Given the description of an element on the screen output the (x, y) to click on. 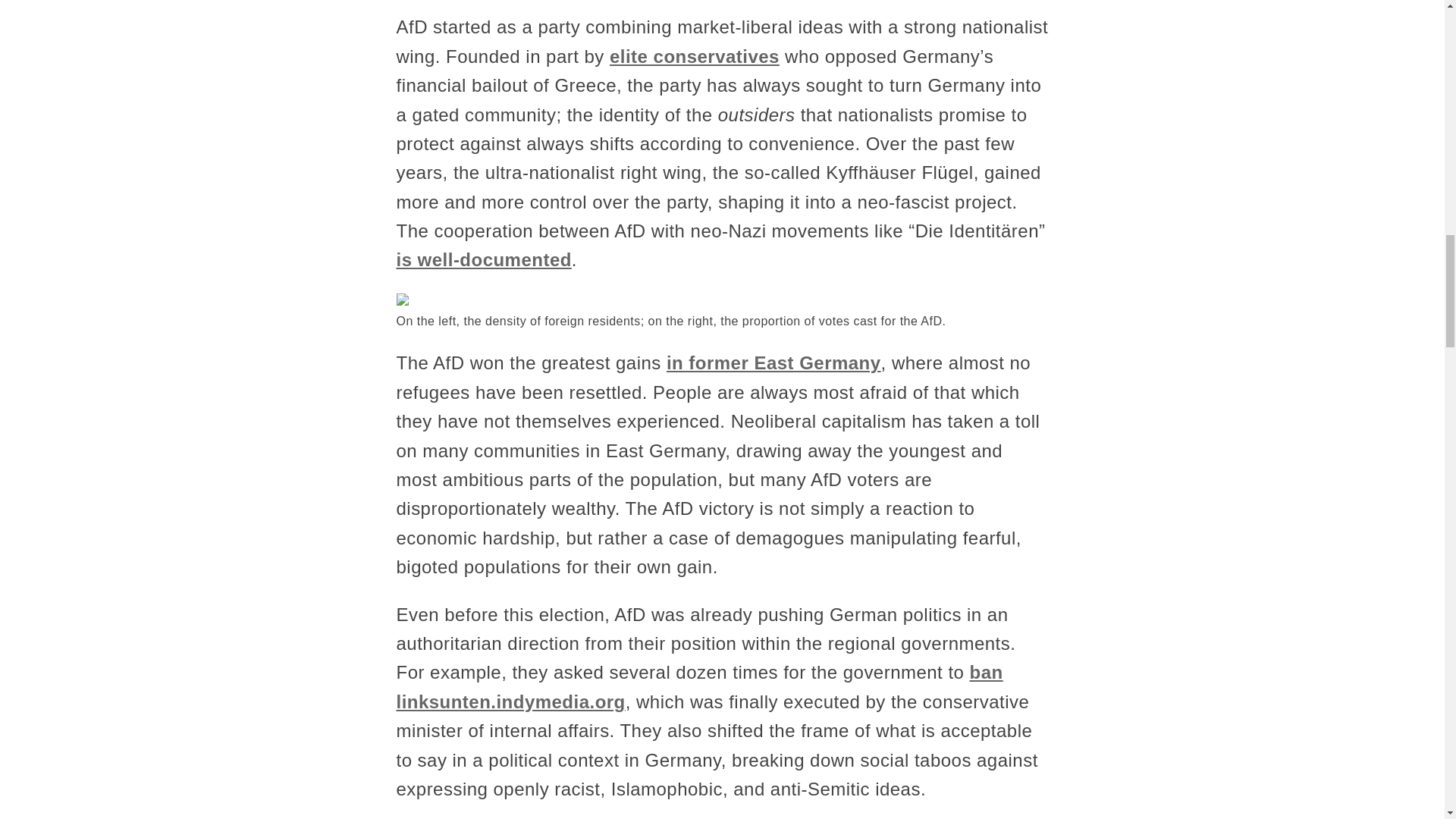
in former East Germany (773, 362)
elite conservatives (694, 55)
ban linksunten.indymedia.org (699, 686)
is well-documented (483, 259)
